Given the description of an element on the screen output the (x, y) to click on. 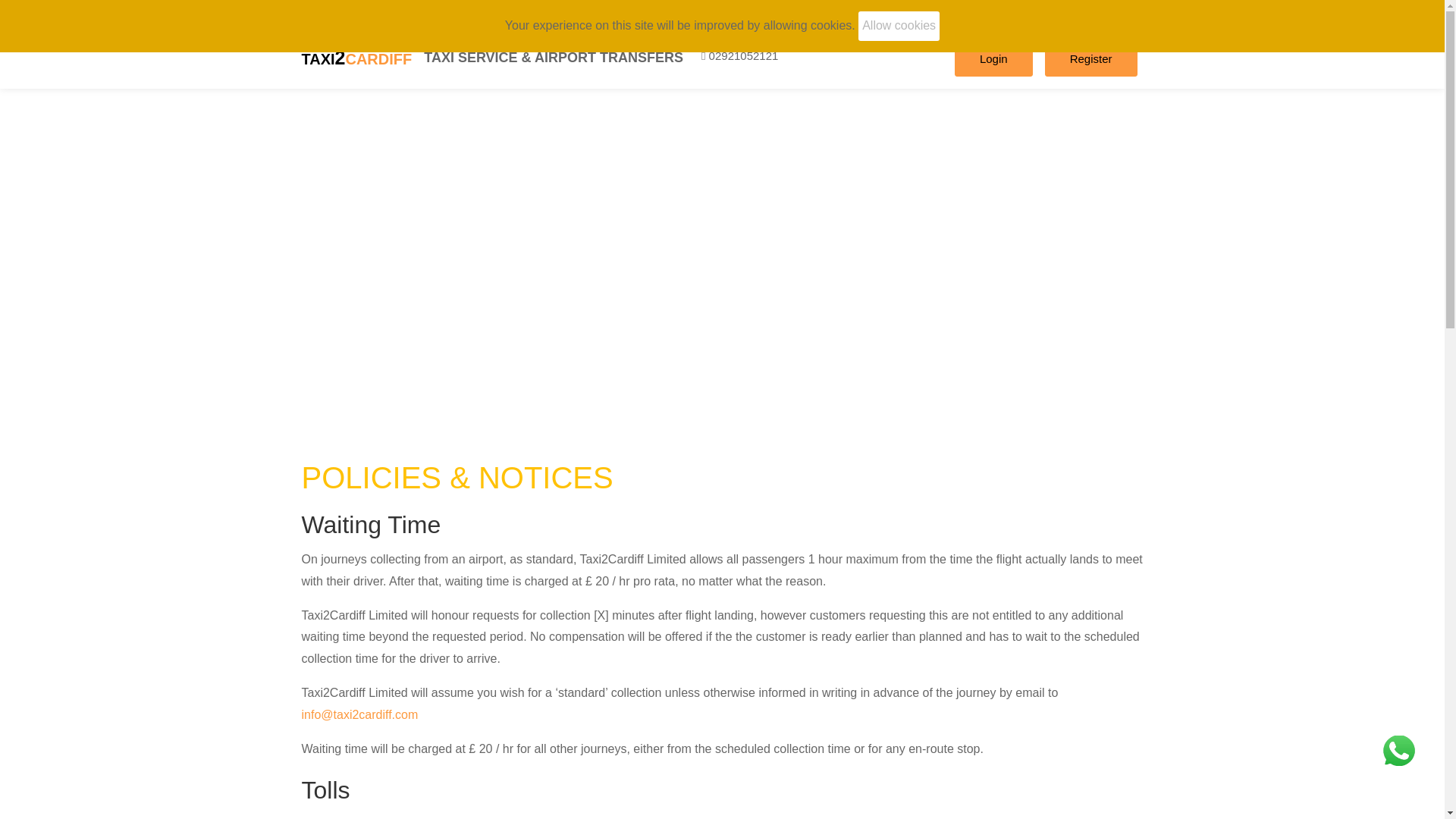
Login (993, 59)
TAXI2CARDIFF (356, 56)
Allow cookies (899, 25)
Register (1090, 59)
